Given the description of an element on the screen output the (x, y) to click on. 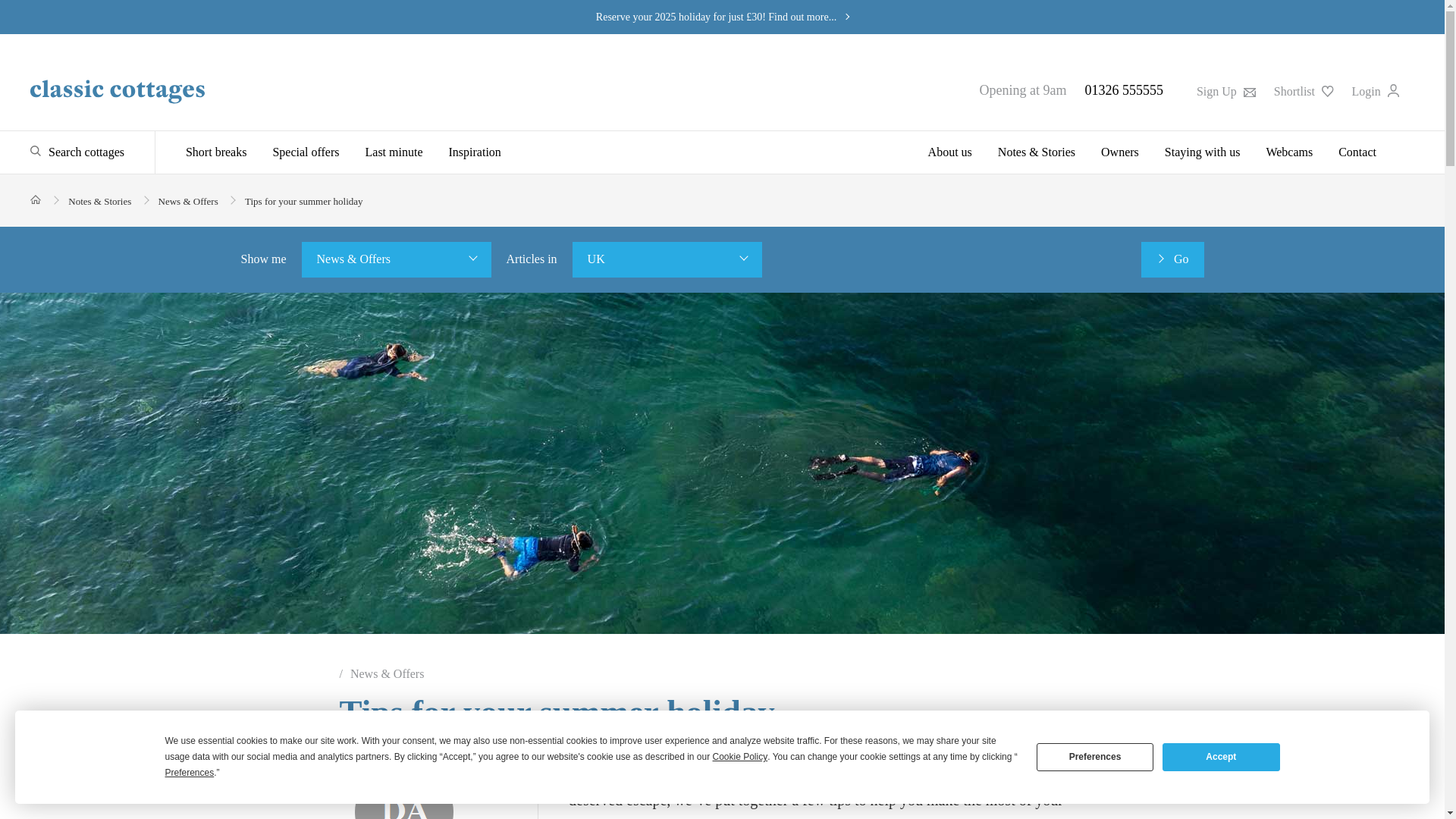
Staying with us (1202, 152)
Webcams (1288, 152)
Inspiration (474, 152)
About us (950, 152)
Accept (1220, 756)
Search cottages (76, 152)
Sign Up (1225, 91)
Short breaks (221, 152)
Preferences (1094, 756)
Sign up (1225, 91)
01326 555555 (1123, 89)
Special offers (305, 152)
Shortlist (1303, 91)
Owners (1119, 152)
UK (666, 258)
